Given the description of an element on the screen output the (x, y) to click on. 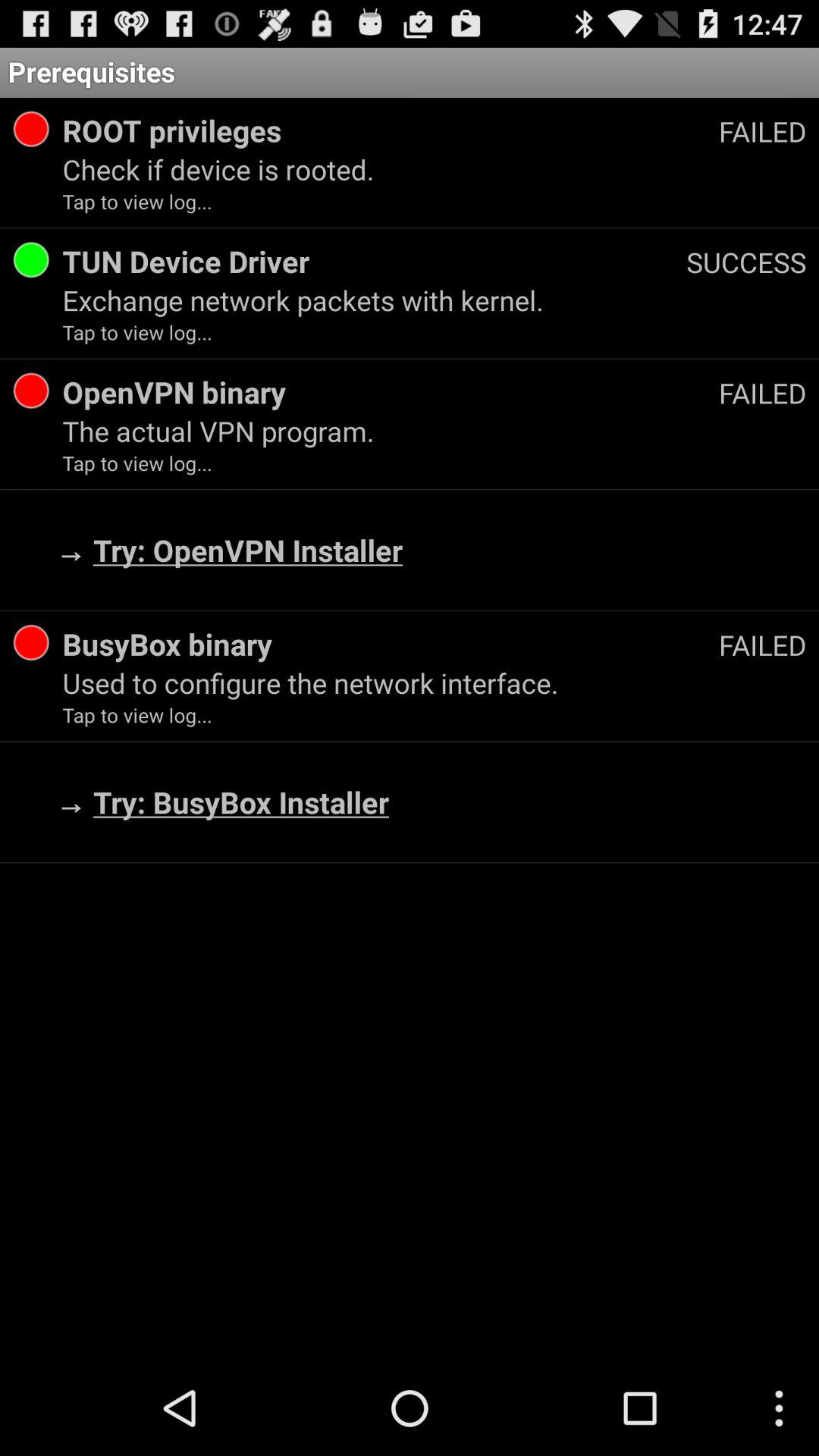
turn on the check if device icon (434, 169)
